Given the description of an element on the screen output the (x, y) to click on. 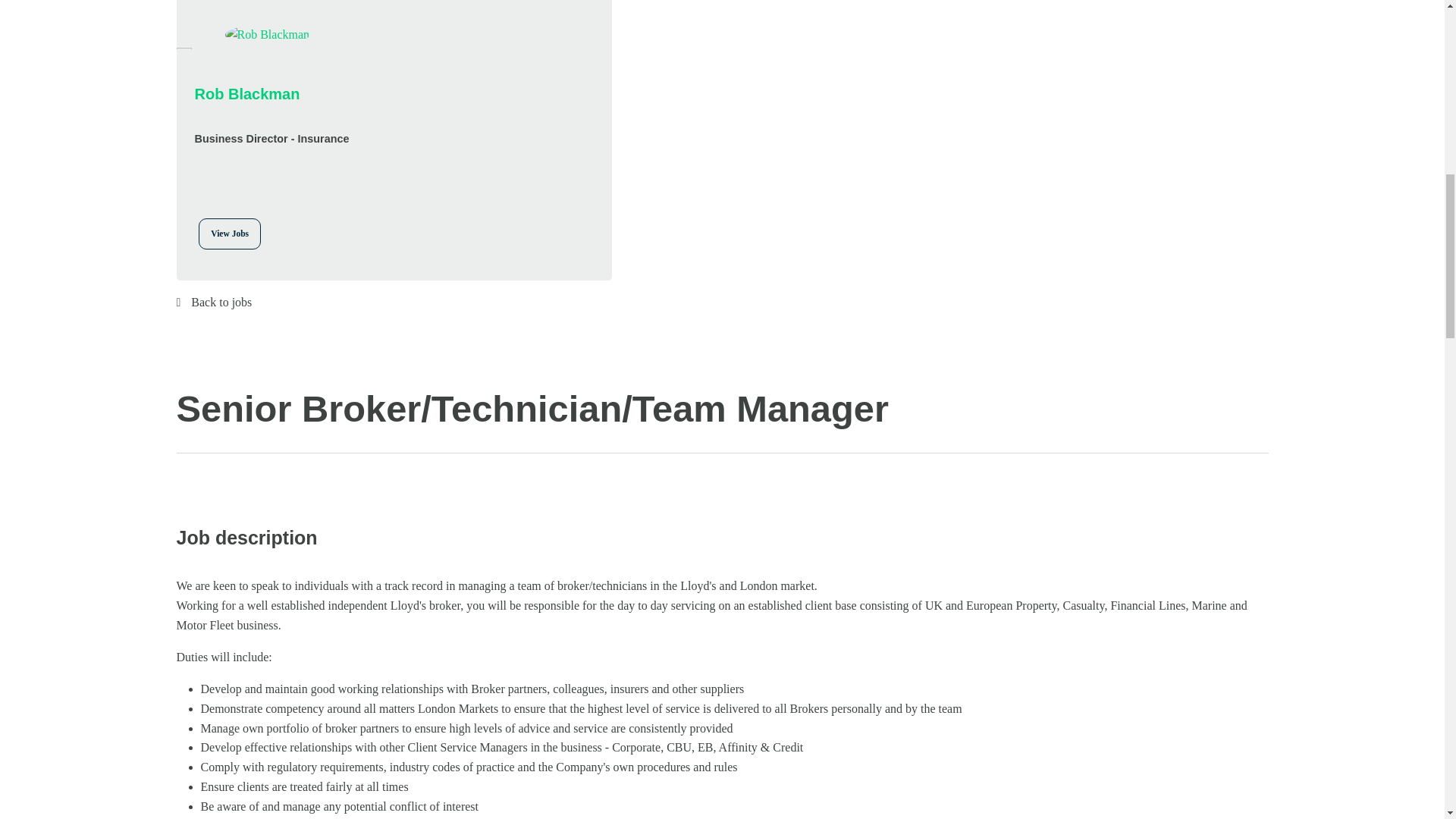
Back to jobs (722, 302)
Rob Blackman (271, 93)
View Jobs (229, 233)
